Given the description of an element on the screen output the (x, y) to click on. 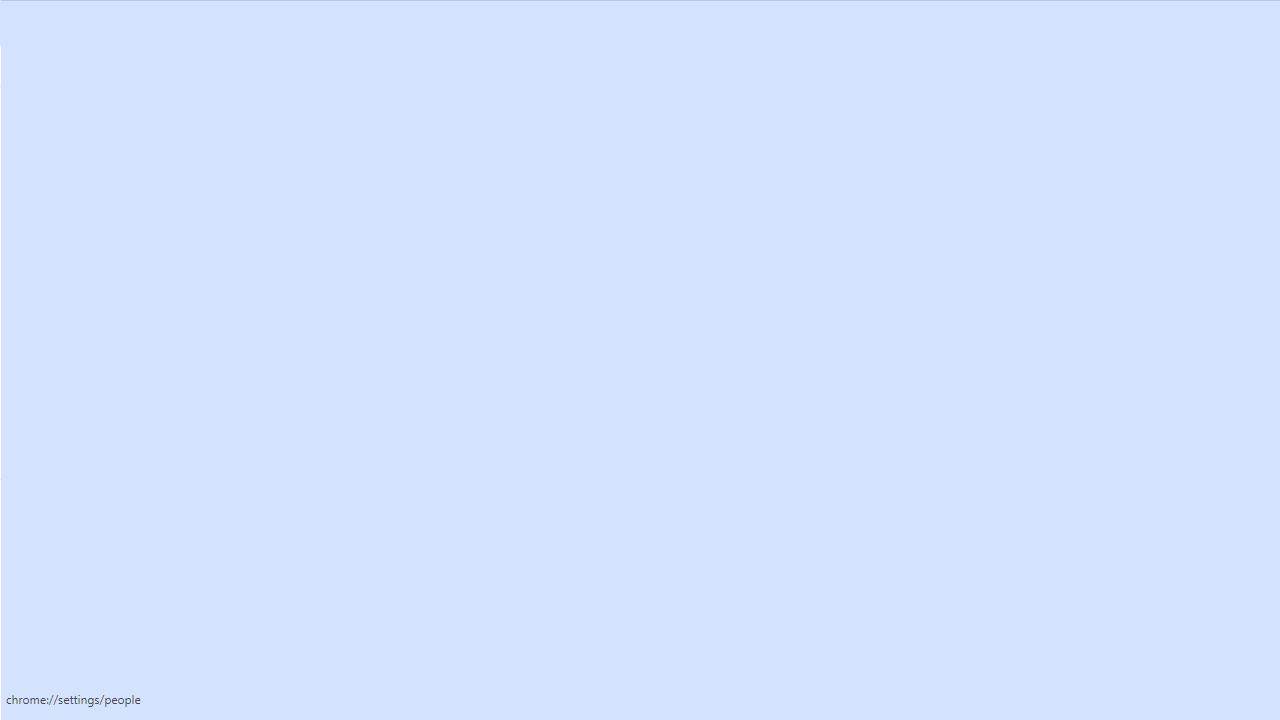
Default browser (124, 410)
Settings - You and Google (156, 20)
Privacy and security (124, 250)
